Given the description of an element on the screen output the (x, y) to click on. 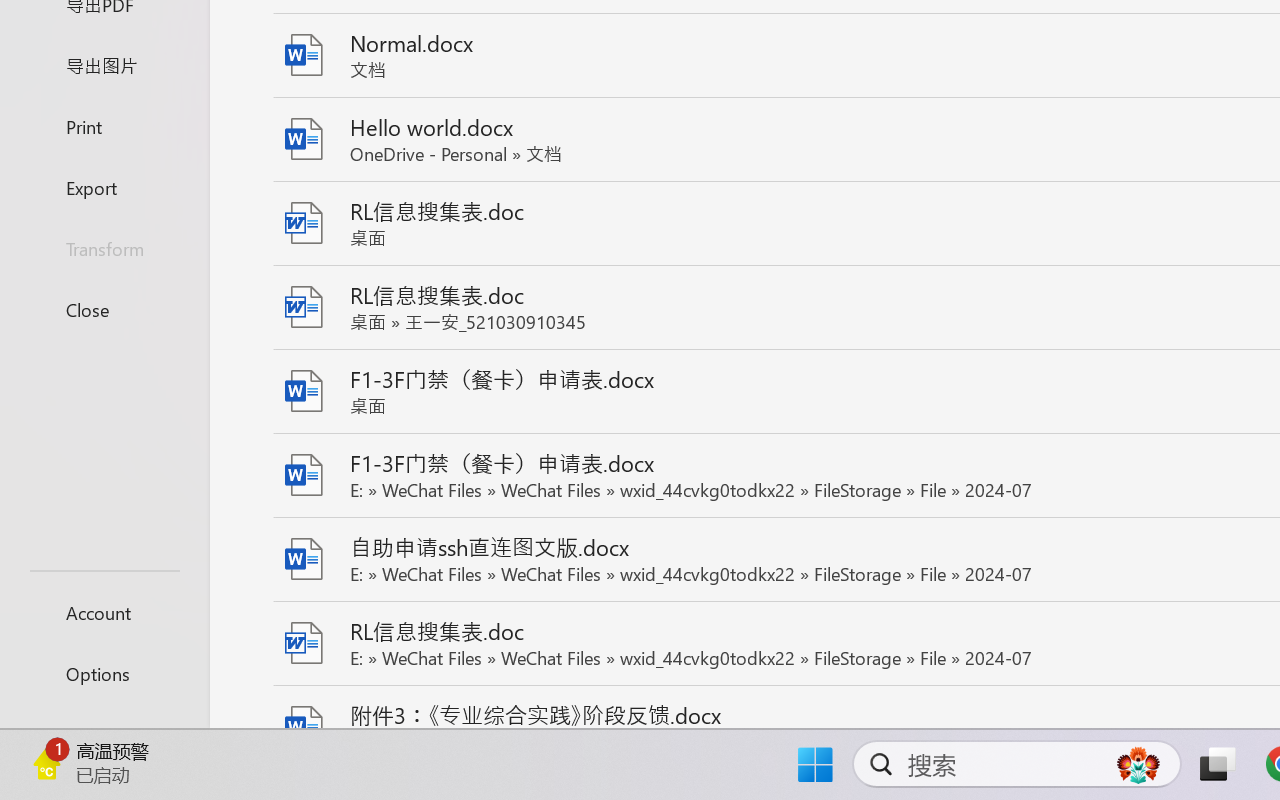
Print (104, 126)
Options (104, 673)
Transform (104, 248)
Export (104, 186)
Account (104, 612)
